Given the description of an element on the screen output the (x, y) to click on. 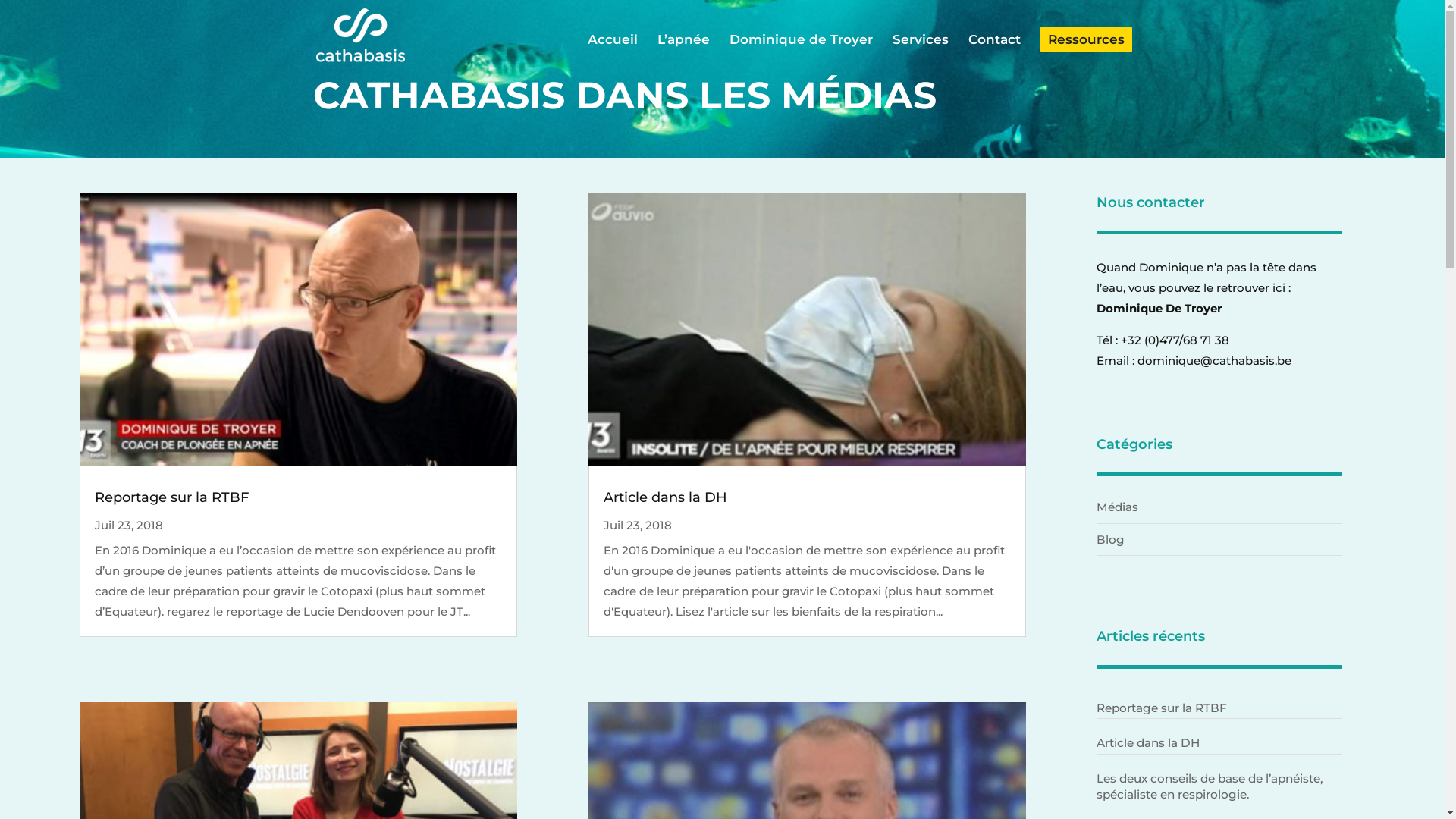
Reportage sur la RTBF Element type: text (1219, 707)
Blog Element type: text (1110, 539)
Services Element type: text (919, 52)
Accueil Element type: text (611, 52)
Contact Element type: text (993, 52)
Ressources Element type: text (1086, 39)
Article dans la DH Element type: text (665, 497)
Dominique de Troyer Element type: text (800, 52)
Reportage sur la RTBF Element type: text (171, 497)
dominique@cathabasis.be Element type: text (1214, 360)
Article dans la DH Element type: text (1219, 742)
